Given the description of an element on the screen output the (x, y) to click on. 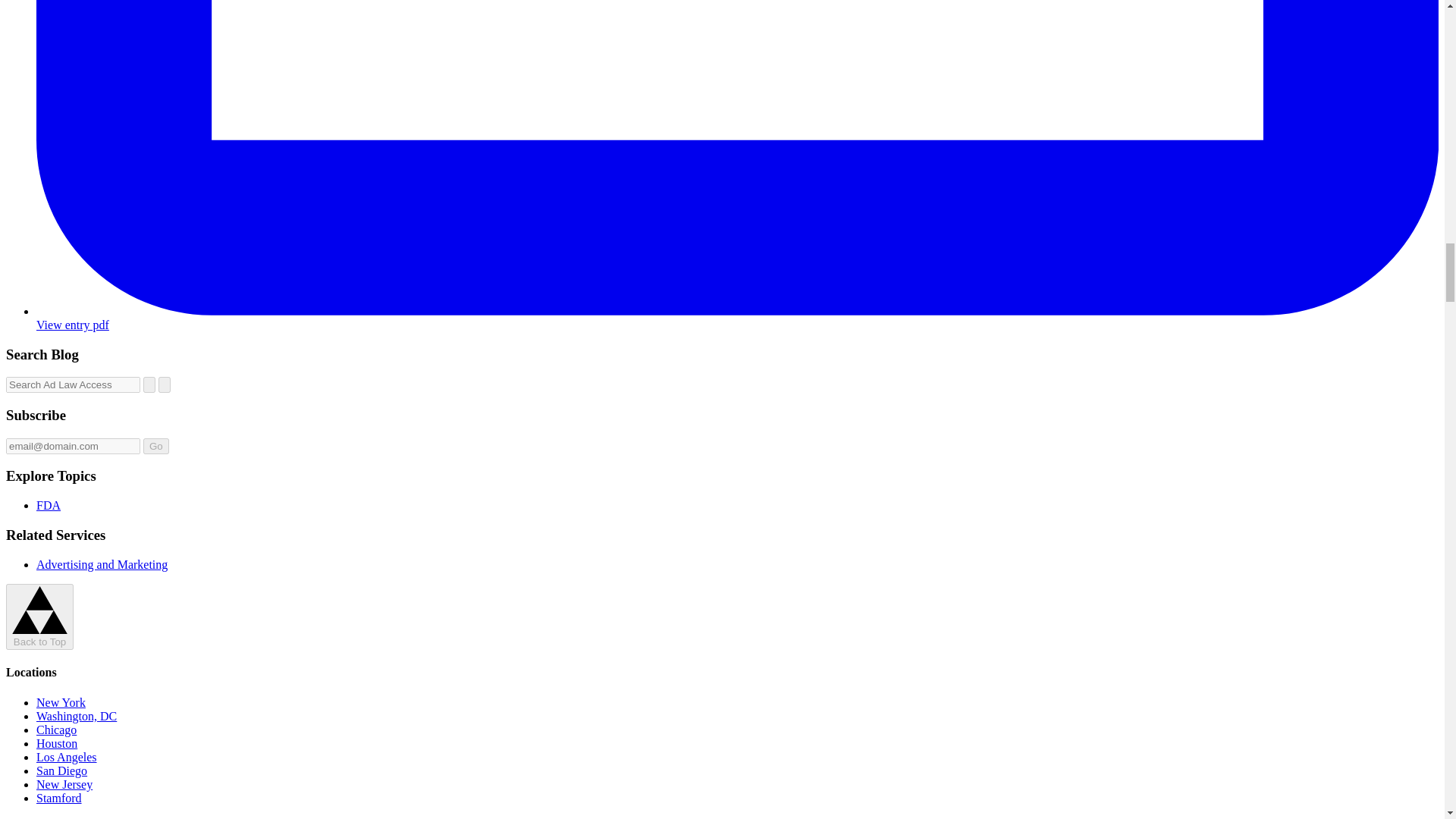
Submit the search query. (164, 384)
Clear the search query. (148, 384)
